Given the description of an element on the screen output the (x, y) to click on. 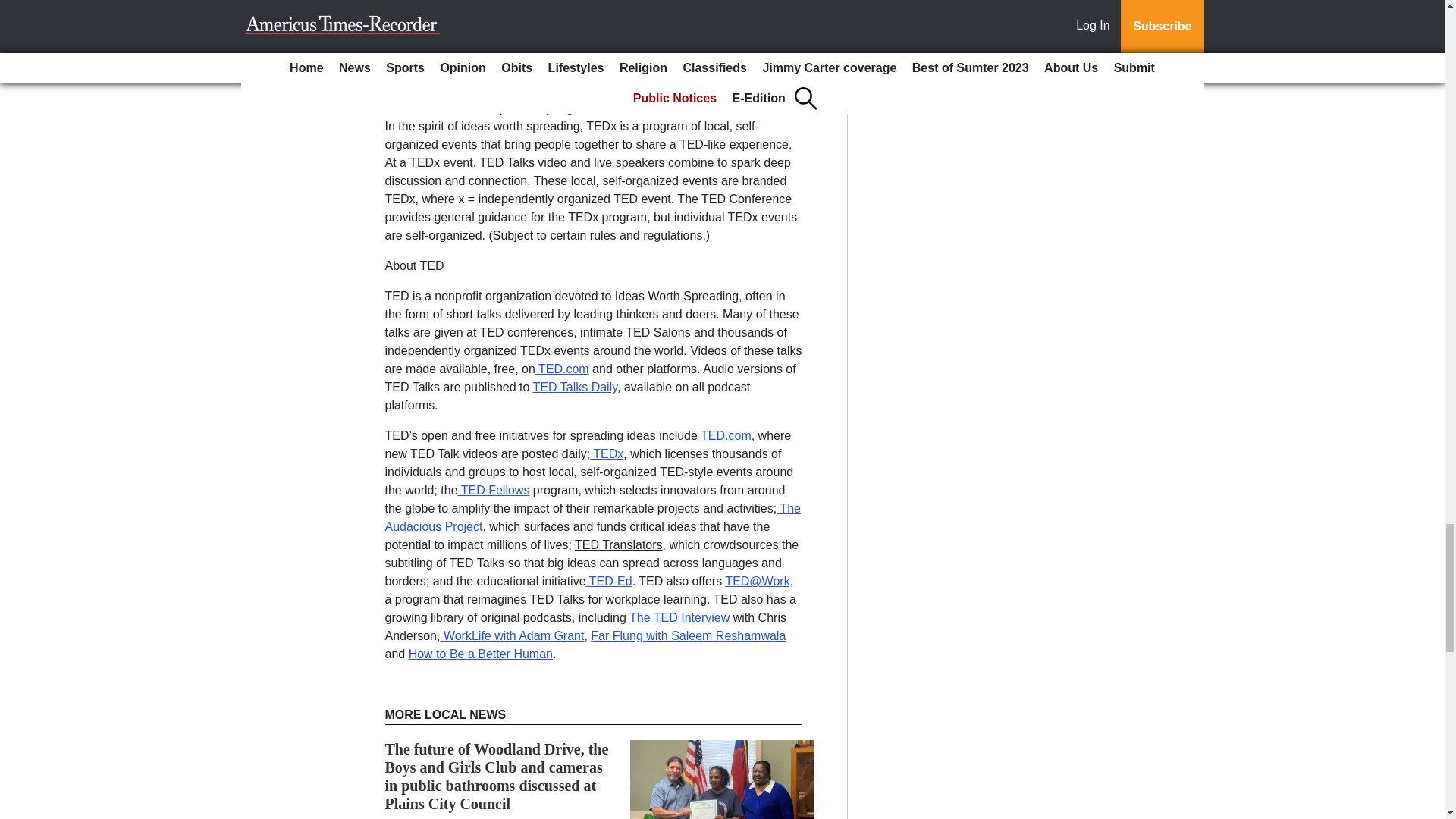
TED.com (562, 368)
TED.com (724, 435)
TEDx (606, 453)
Facebook (625, 59)
Instagram (728, 59)
Twitter (676, 59)
TED Talks Daily (574, 386)
YouTube (408, 77)
The TED Interview (677, 617)
TED Fellows (493, 490)
The Audacious Project (592, 517)
TED-Ed (608, 581)
